Given the description of an element on the screen output the (x, y) to click on. 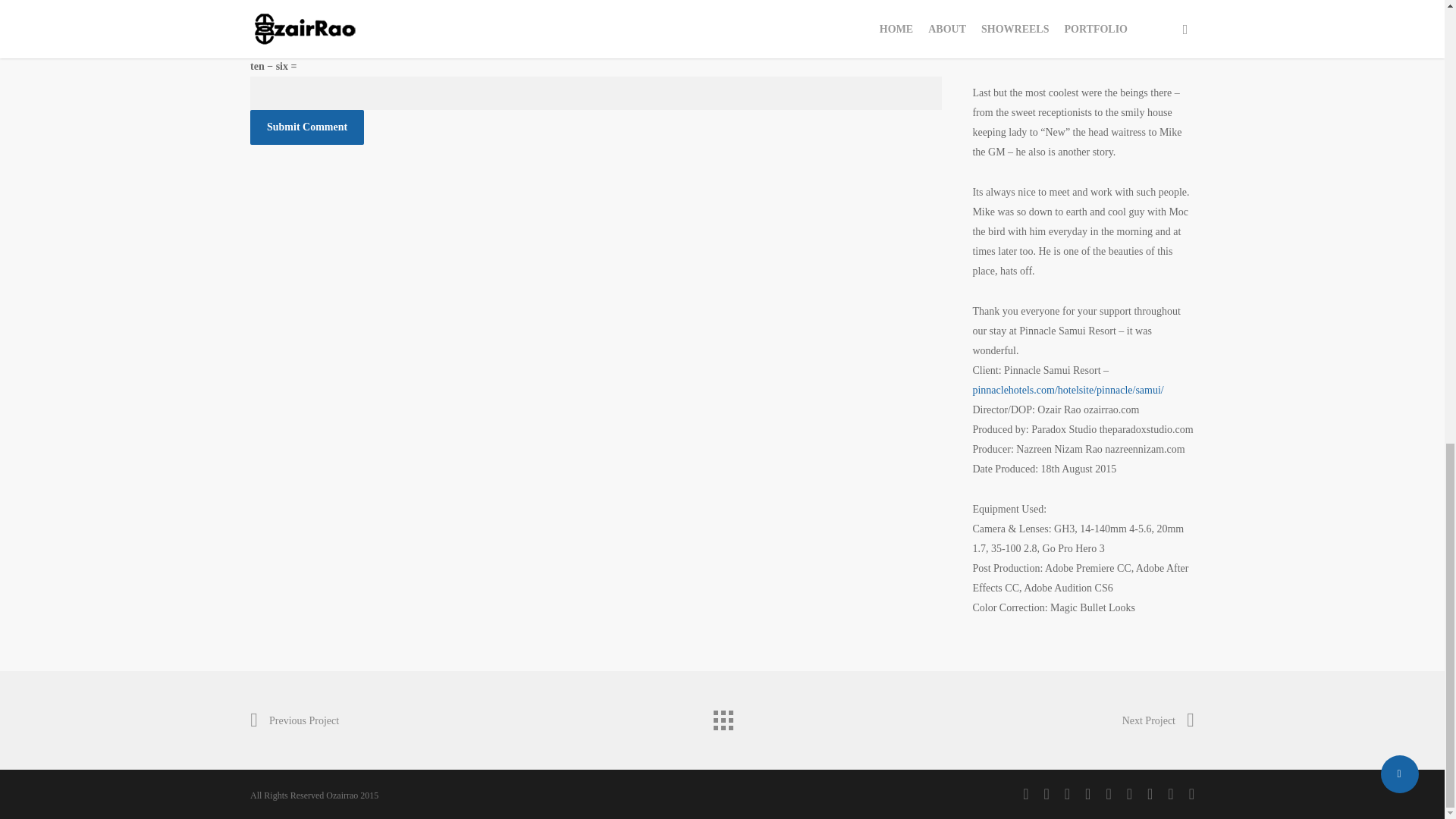
Previous Project (294, 721)
Next Project (1157, 721)
Submit Comment (307, 126)
Back to all projects (721, 716)
Submit Comment (307, 126)
